Given the description of an element on the screen output the (x, y) to click on. 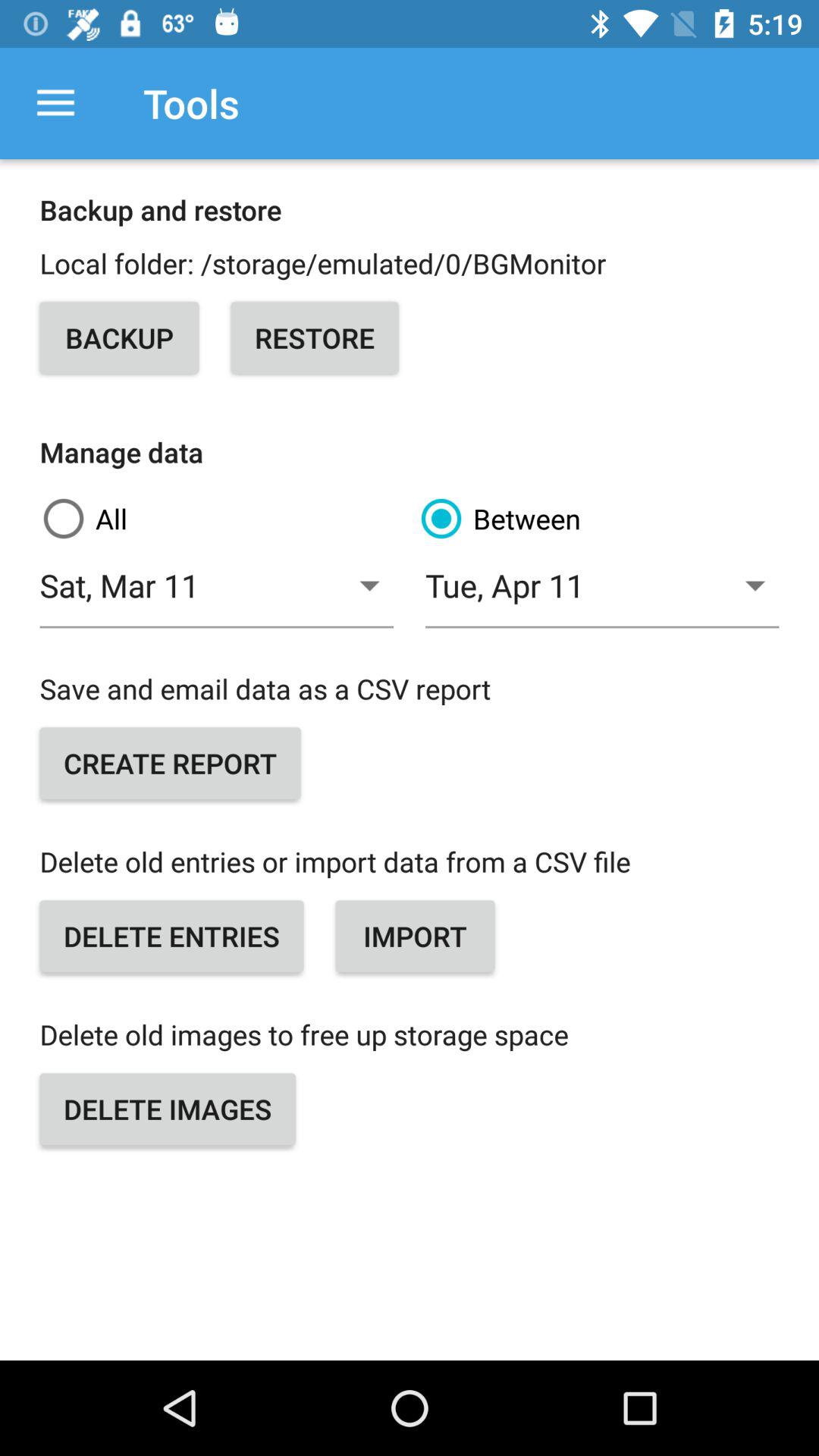
select the item below restore item (598, 518)
